Given the description of an element on the screen output the (x, y) to click on. 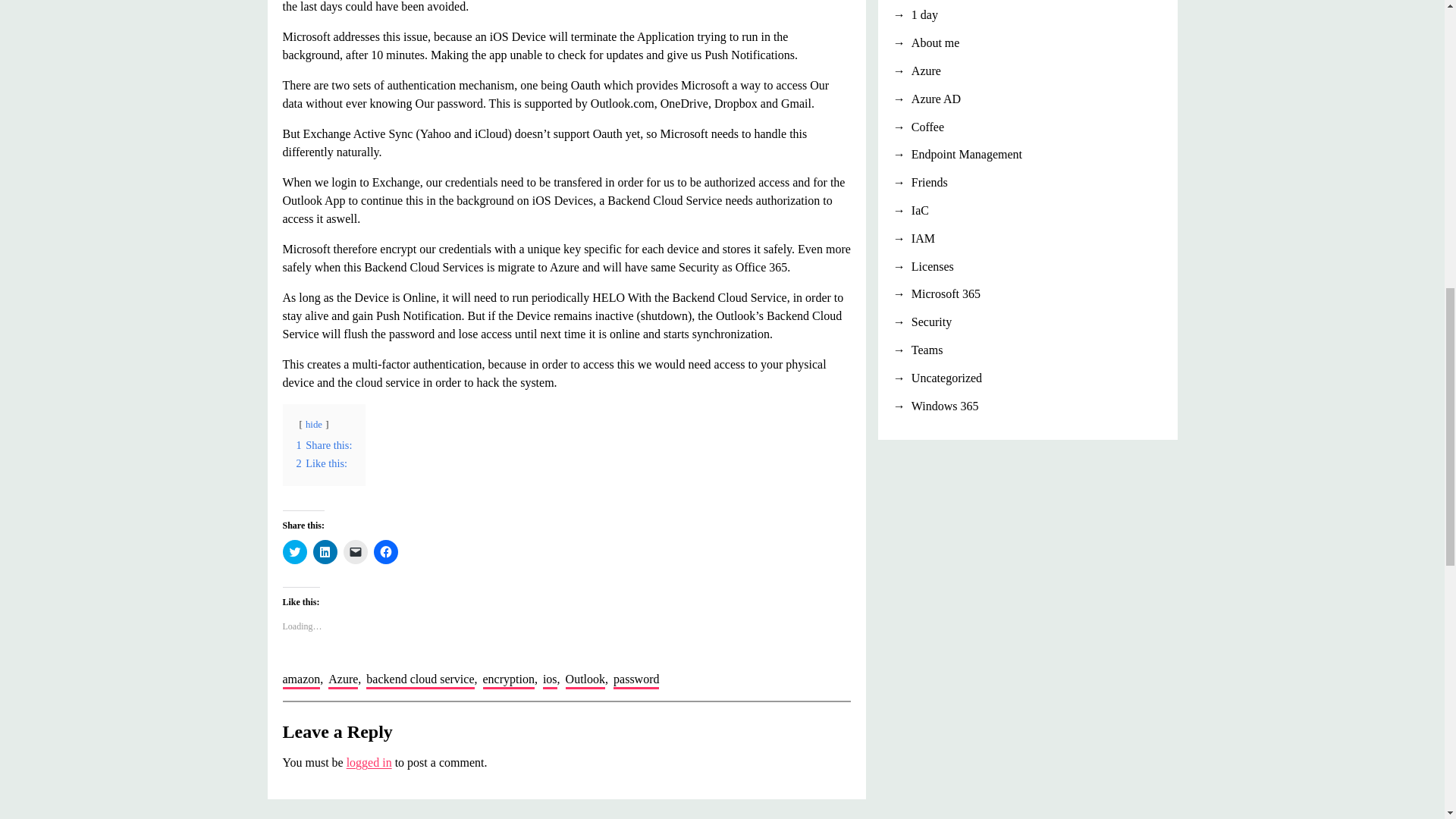
Endpoint Management (1027, 154)
1 Share this: (323, 444)
amazon (301, 680)
Azure (343, 680)
IaC (1027, 210)
About me (1027, 43)
logged in (368, 762)
Coffee (1027, 126)
IAM (1027, 239)
Outlook (585, 680)
